Given the description of an element on the screen output the (x, y) to click on. 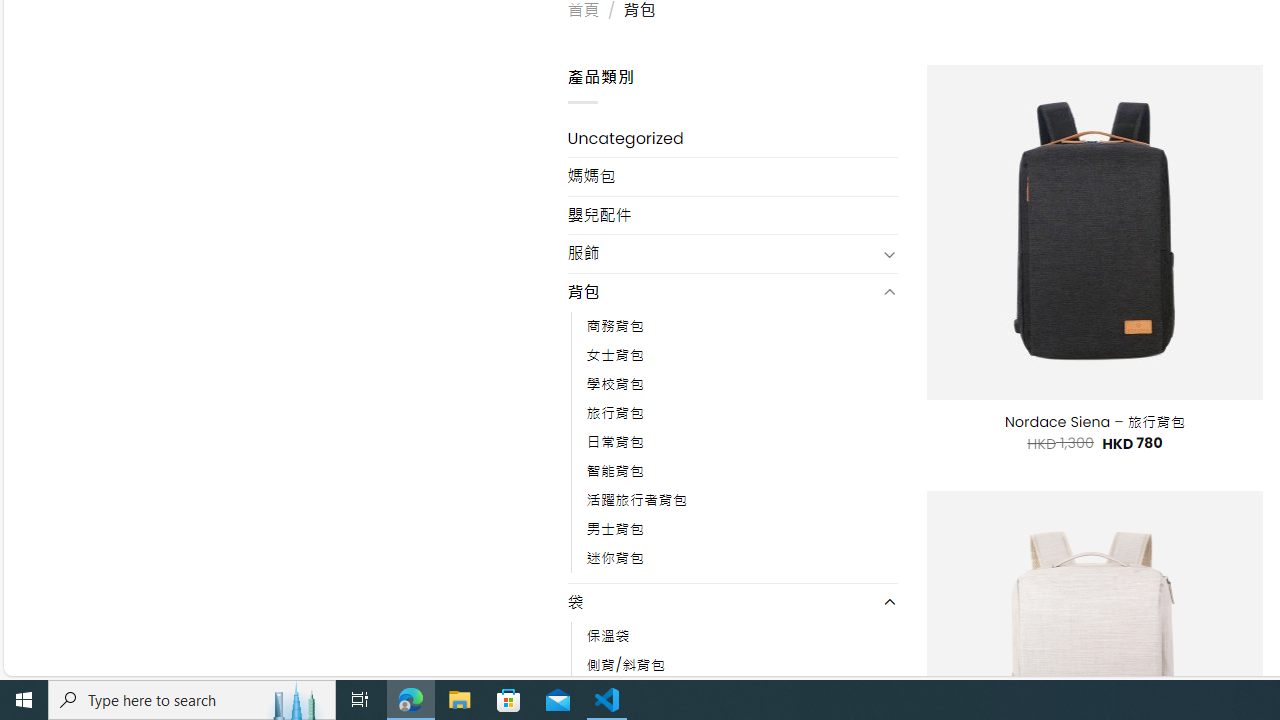
Uncategorized (732, 137)
Uncategorized (732, 137)
